Given the description of an element on the screen output the (x, y) to click on. 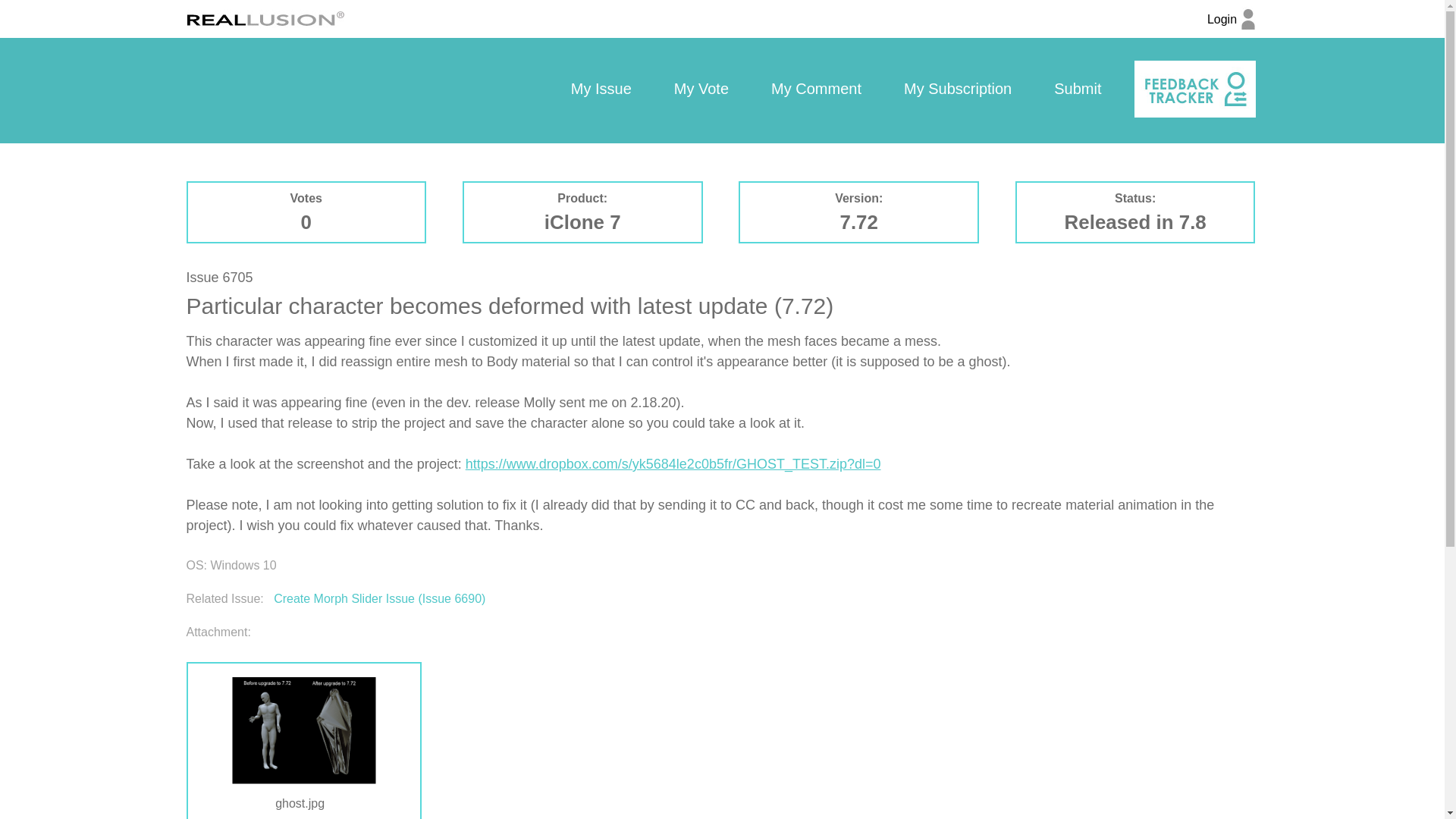
ghost.jpg (304, 803)
My Subscription (957, 89)
ghost.jpg (303, 730)
Feedback Tracker Home (1194, 88)
ghost.jpg (304, 801)
My Comment (815, 89)
Reallusion (266, 18)
Login (1231, 27)
Submit (1076, 89)
My Issue (601, 89)
